Given the description of an element on the screen output the (x, y) to click on. 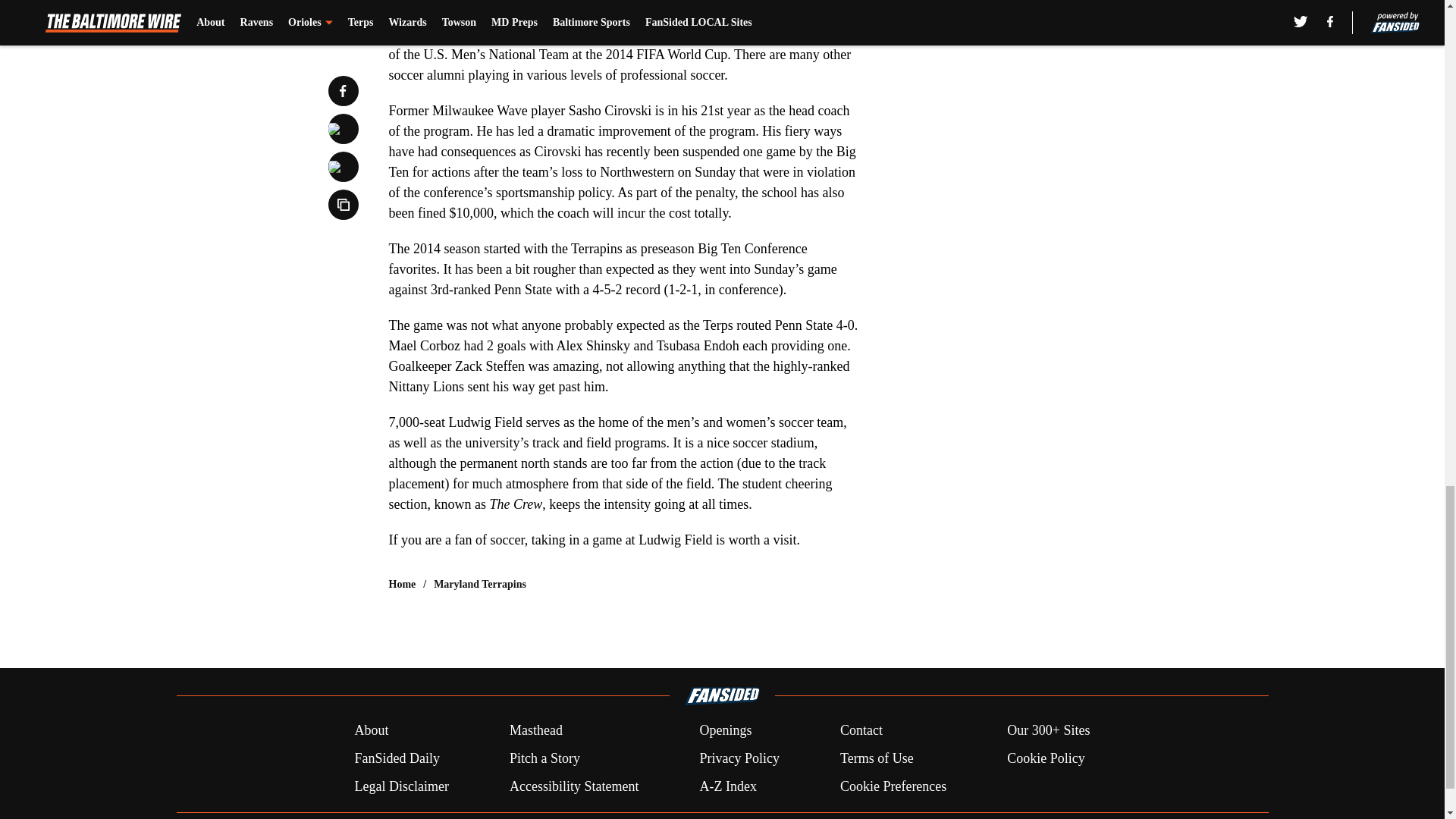
Contact (861, 730)
Terms of Use (877, 758)
Cookie Preferences (893, 786)
FanSided Daily (396, 758)
Maryland Terrapins (479, 584)
Pitch a Story (544, 758)
Accessibility Statement (574, 786)
Legal Disclaimer (400, 786)
About (370, 730)
Openings (724, 730)
